Given the description of an element on the screen output the (x, y) to click on. 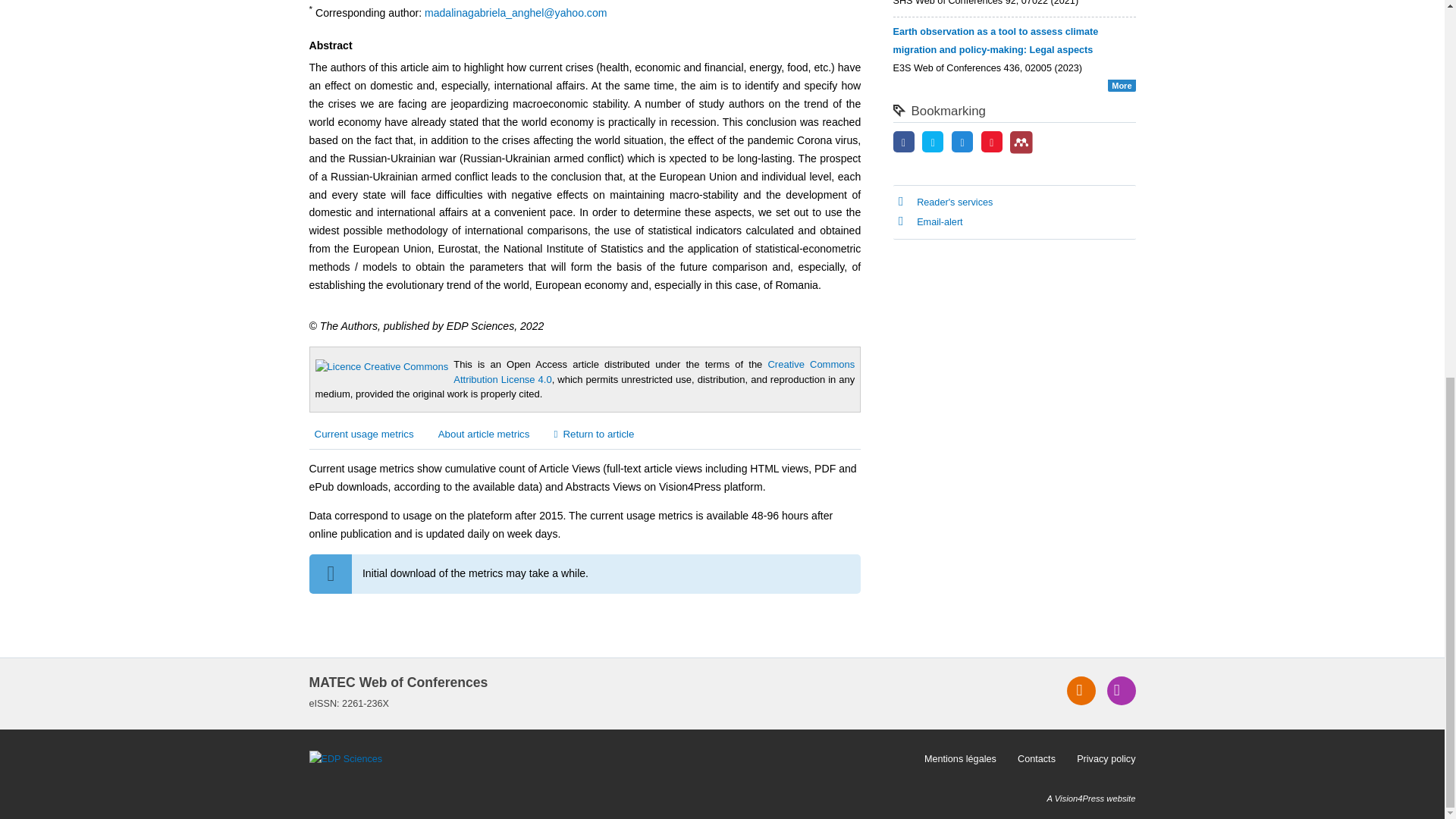
Mendeley (1021, 142)
